Given the description of an element on the screen output the (x, y) to click on. 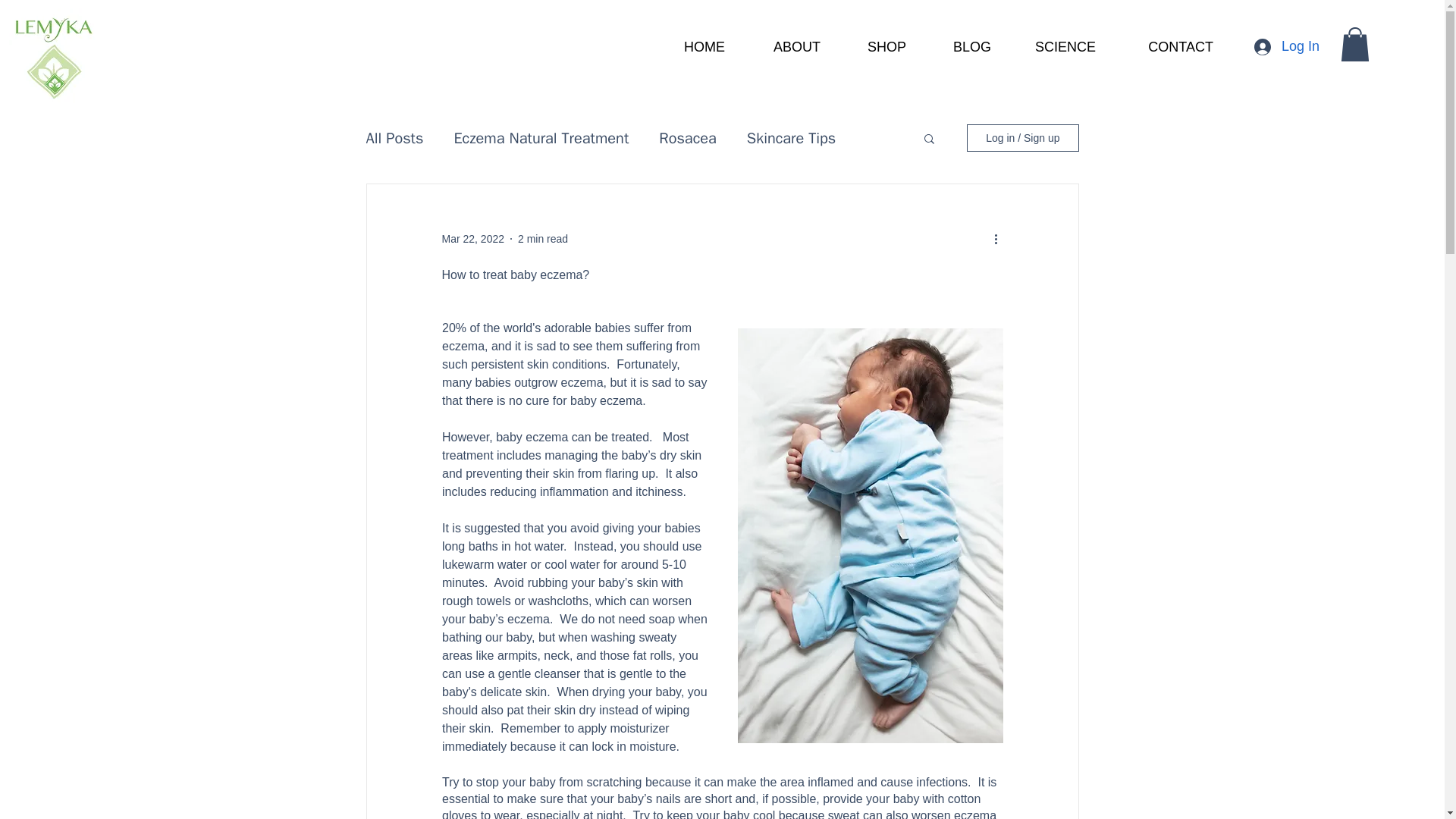
Log In (1286, 46)
Eczema Natural Treatment (540, 137)
CONTACT (1165, 46)
SCIENCE (1054, 46)
SHOP (874, 46)
All Posts (394, 137)
Skincare Tips (790, 137)
BLOG (960, 46)
ABOUT (783, 46)
2 min read (542, 238)
Mar 22, 2022 (472, 238)
Rosacea (687, 137)
HOME (691, 46)
